Given the description of an element on the screen output the (x, y) to click on. 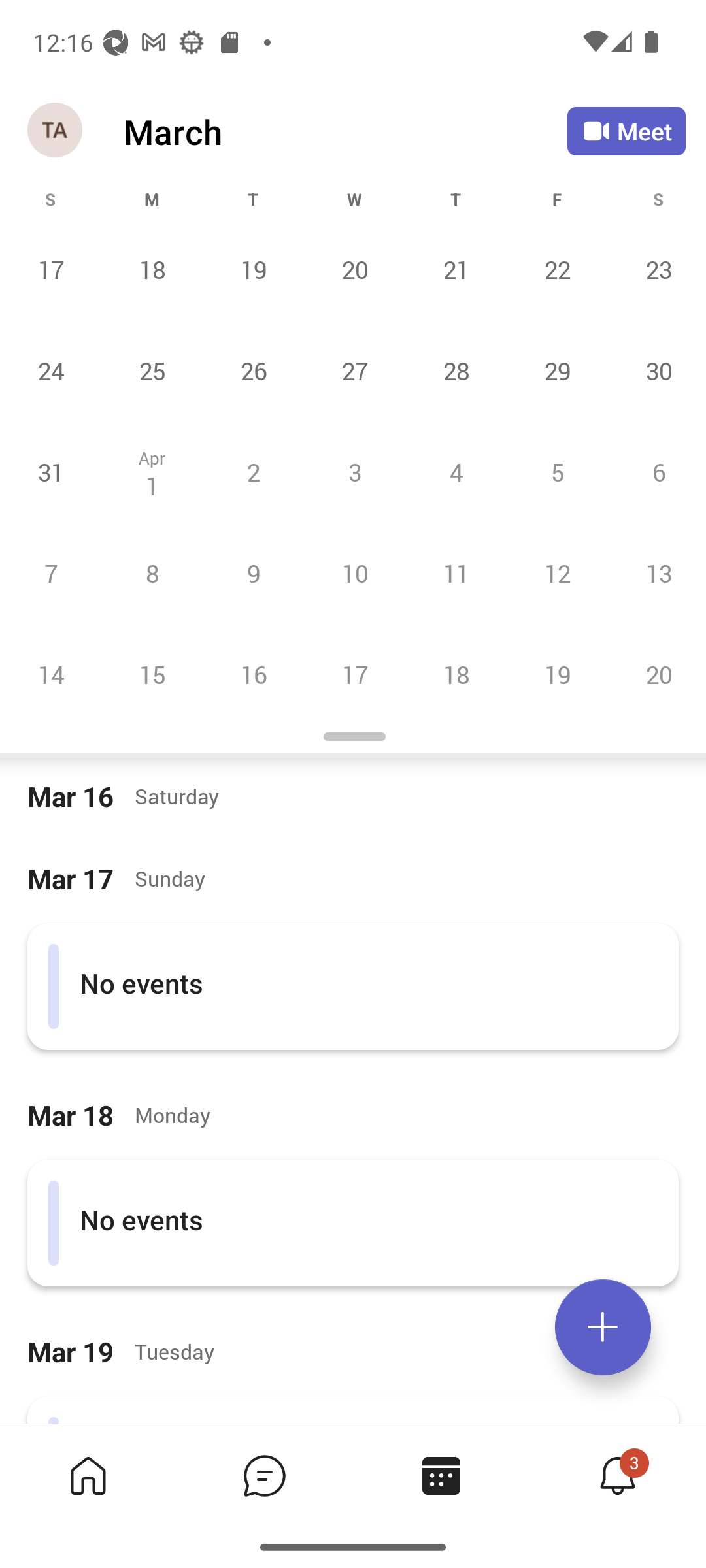
Navigation (56, 130)
Meet Meet now or join with an ID (626, 130)
March March Calendar Agenda View (345, 131)
Sunday, March 17 17 (50, 269)
Monday, March 18 18 (151, 269)
Tuesday, March 19 19 (253, 269)
Wednesday, March 20 20 (354, 269)
Thursday, March 21 21 (455, 269)
Friday, March 22 22 (556, 269)
Saturday, March 23 23 (656, 269)
Sunday, March 24 24 (50, 370)
Monday, March 25 25 (151, 370)
Tuesday, March 26 26 (253, 370)
Wednesday, March 27 27 (354, 370)
Thursday, March 28 28 (455, 370)
Friday, March 29 29 (556, 370)
Saturday, March 30 30 (656, 370)
Sunday, March 31 31 (50, 471)
Monday, April 1 Apr 1 (151, 471)
Tuesday, April 2 2 (253, 471)
Wednesday, April 3 3 (354, 471)
Thursday, April 4 4 (455, 471)
Friday, April 5 5 (556, 471)
Saturday, April 6 6 (656, 471)
Sunday, April 7 7 (50, 573)
Monday, April 8 8 (151, 573)
Tuesday, April 9 9 (253, 573)
Wednesday, April 10 10 (354, 573)
Thursday, April 11 11 (455, 573)
Friday, April 12 12 (556, 573)
Saturday, April 13 13 (656, 573)
Sunday, April 14 14 (50, 674)
Monday, April 15 15 (151, 674)
Tuesday, April 16 16 (253, 674)
Wednesday, April 17 17 (354, 674)
Thursday, April 18 18 (455, 674)
Friday, April 19 19 (556, 674)
Saturday, April 20 20 (656, 674)
Expand meetings menu (602, 1327)
Home tab,1 of 4, not selected (88, 1475)
Chat tab,2 of 4, not selected (264, 1475)
Calendar tab, 3 of 4 (441, 1475)
Activity tab,4 of 4, not selected, 3 new 3 (617, 1475)
